Given the description of an element on the screen output the (x, y) to click on. 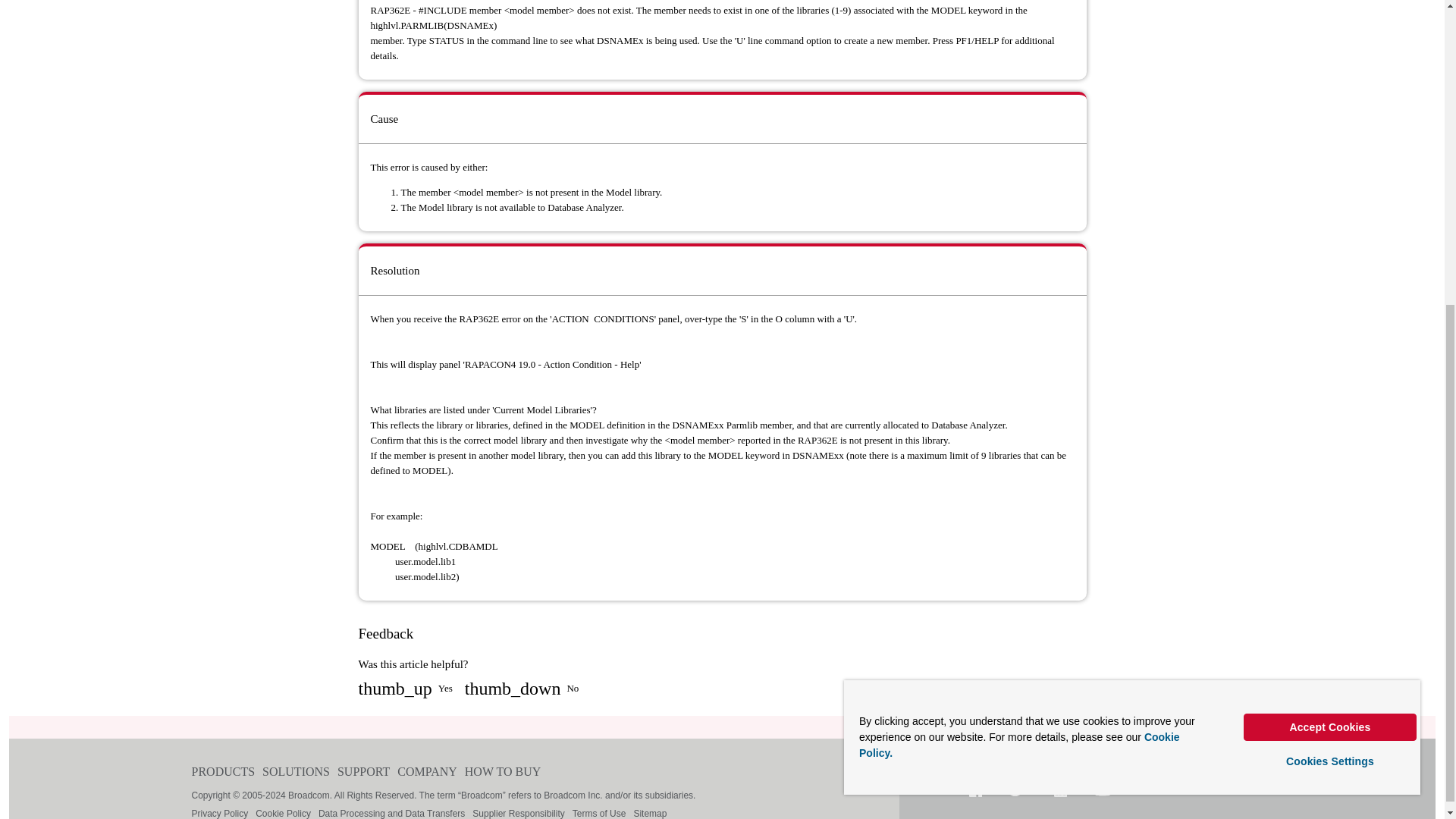
Cookie Policy. (1019, 260)
Cookies Settings (1329, 276)
Accept Cookies (1329, 242)
